Given the description of an element on the screen output the (x, y) to click on. 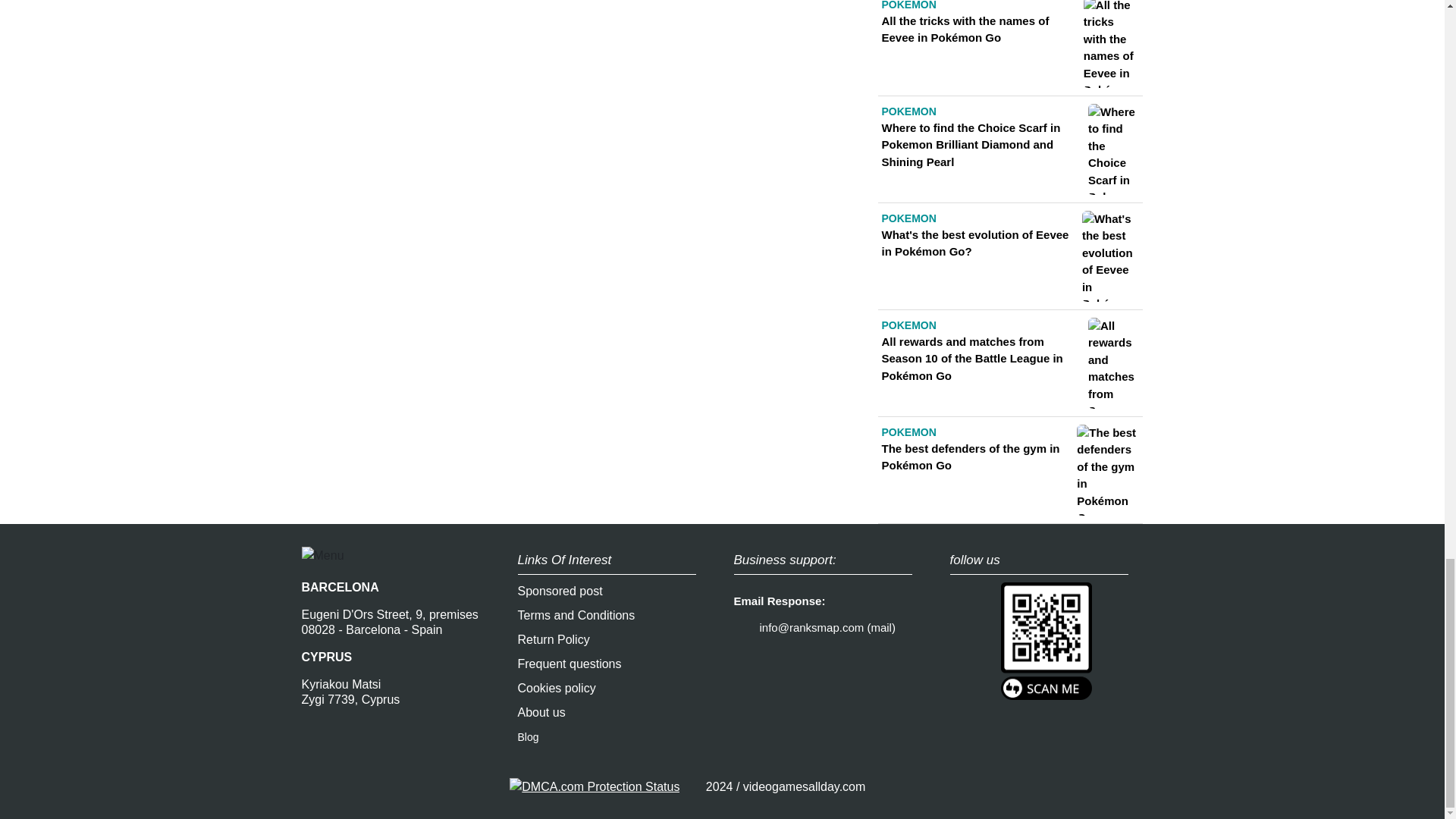
Blog (527, 736)
